Given the description of an element on the screen output the (x, y) to click on. 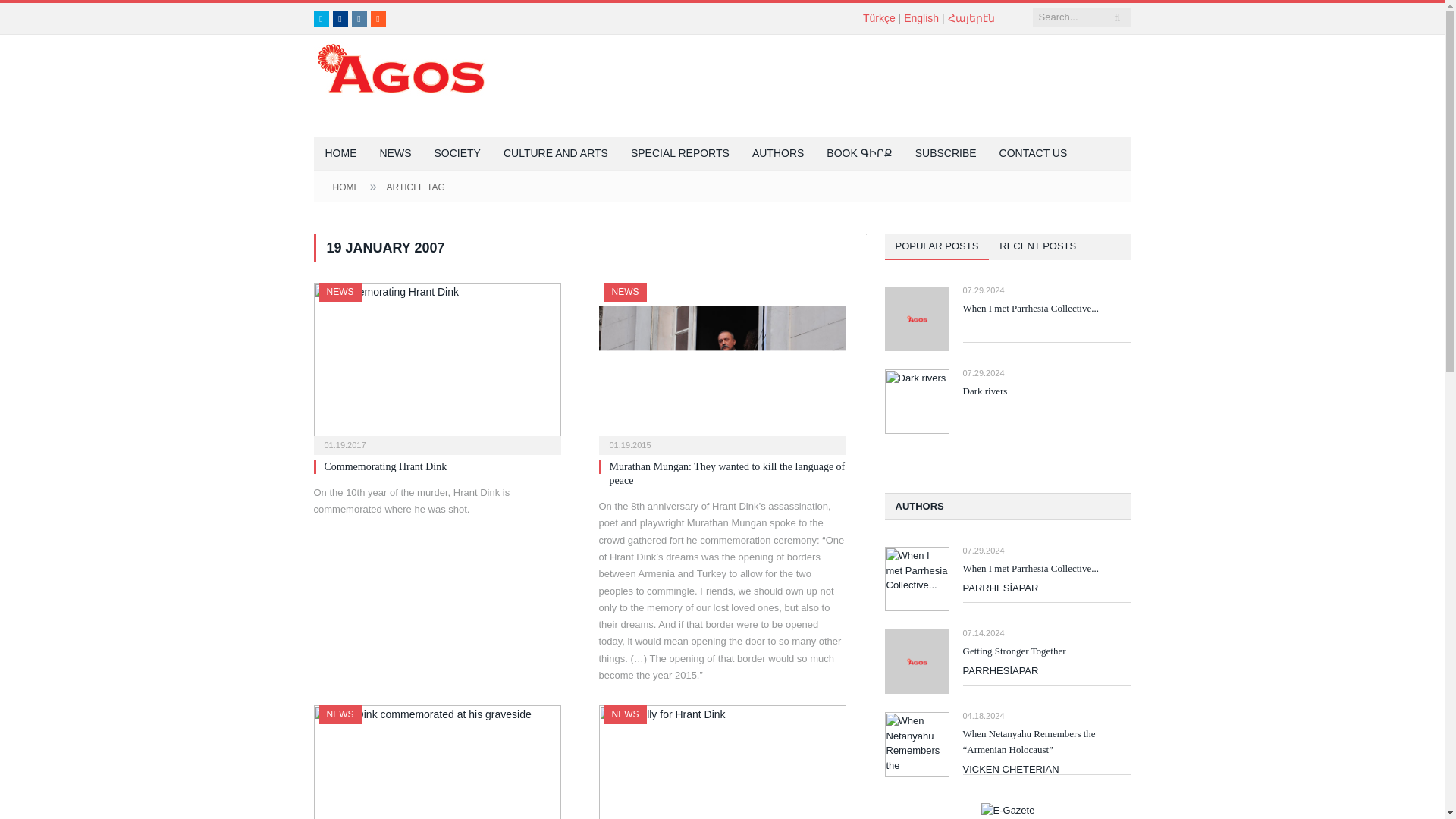
Home (341, 154)
HOME (341, 154)
Murathan Mungan: They wanted to kill the language of peace (727, 473)
NEWS (625, 291)
ARTICLE TAG (414, 186)
AGOS (400, 66)
Commemorating Hrant Dink (385, 466)
News (395, 154)
CONTACT US (1033, 154)
Murathan Mungan: They wanted to kill the language of peace (721, 364)
When I met Parrhesia Collective... (1046, 308)
NEWS (339, 714)
POPULAR POSTS (935, 247)
NEWS (339, 291)
Society (457, 154)
